Given the description of an element on the screen output the (x, y) to click on. 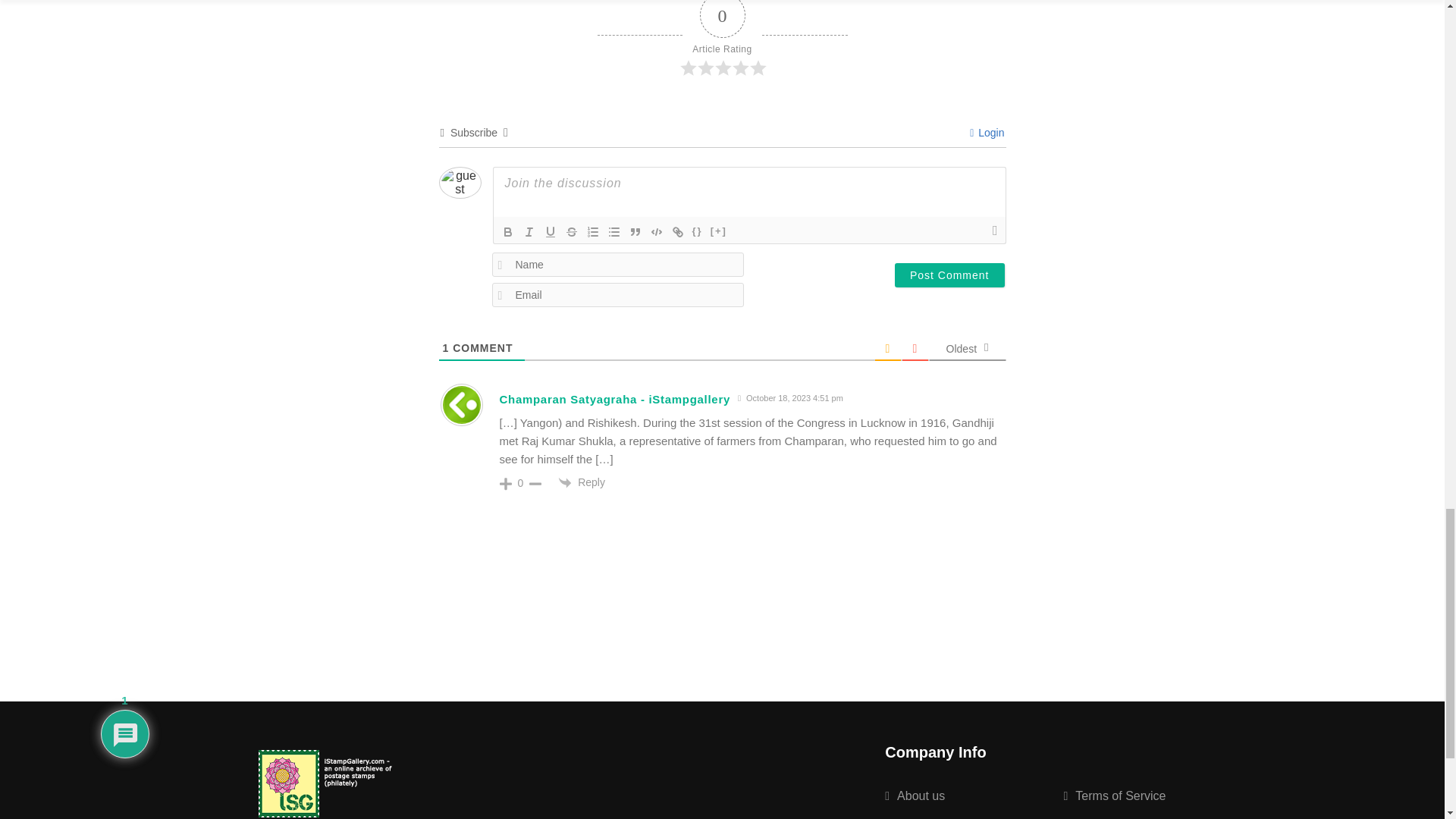
Strike (571, 231)
Italic (529, 231)
Blockquote (635, 231)
Bold (507, 231)
Underline (550, 231)
Unordered List (614, 231)
Link (677, 231)
Source Code (697, 231)
Code Block (656, 231)
Ordered List (593, 231)
Post Comment (949, 274)
